Given the description of an element on the screen output the (x, y) to click on. 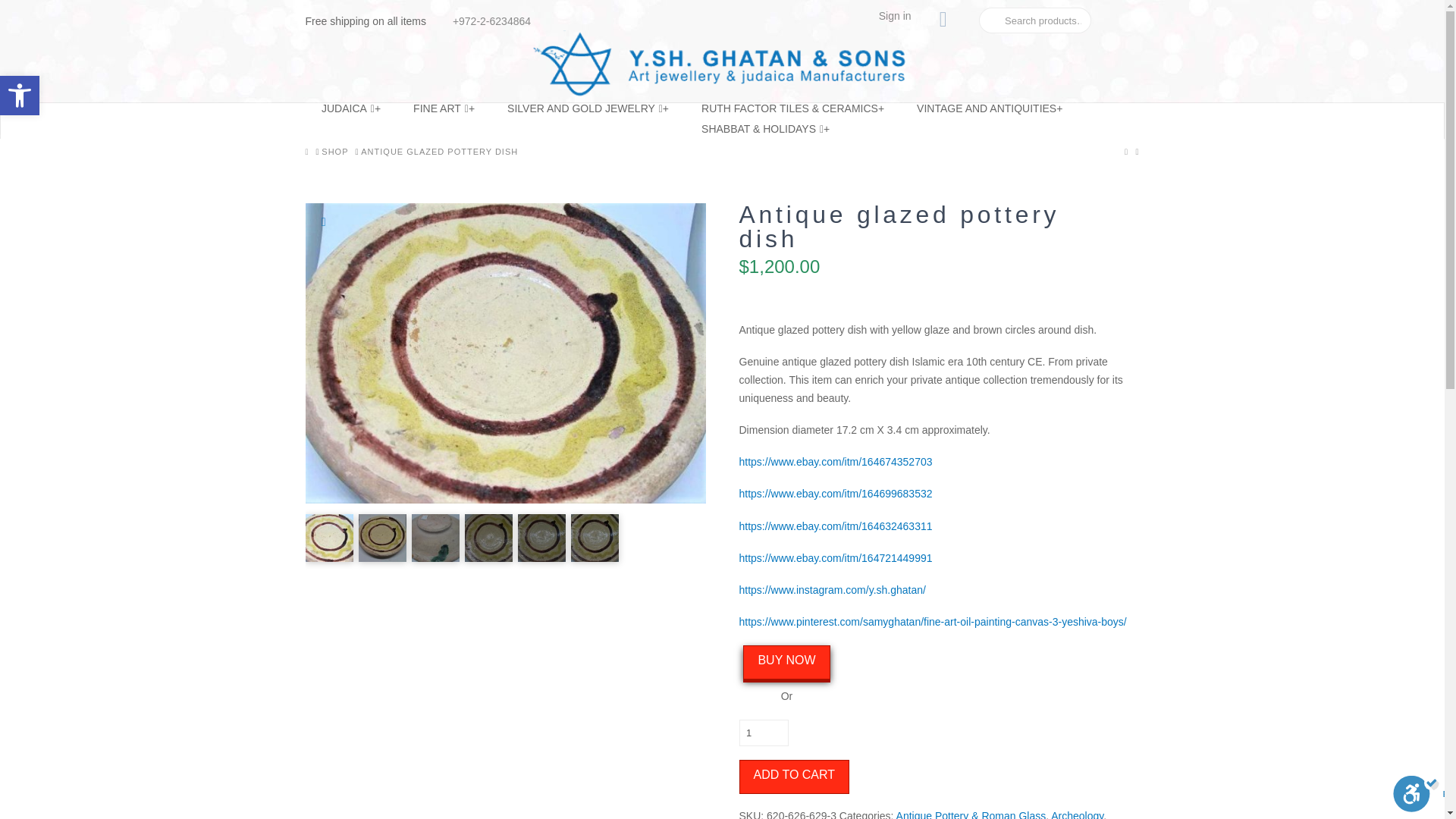
jerusalem-mall.co.il (722, 64)
Sign in (895, 15)
Accessibility Tools (19, 95)
You Are Here (439, 152)
SILVER AND GOLD JEWELRY (588, 113)
1 (19, 95)
Accessibility Tools (762, 732)
JUDAICA (19, 95)
620-626-629-3-2 (350, 113)
FINE ART (504, 353)
Search (444, 113)
View your shopping cart (16, 11)
